Given the description of an element on the screen output the (x, y) to click on. 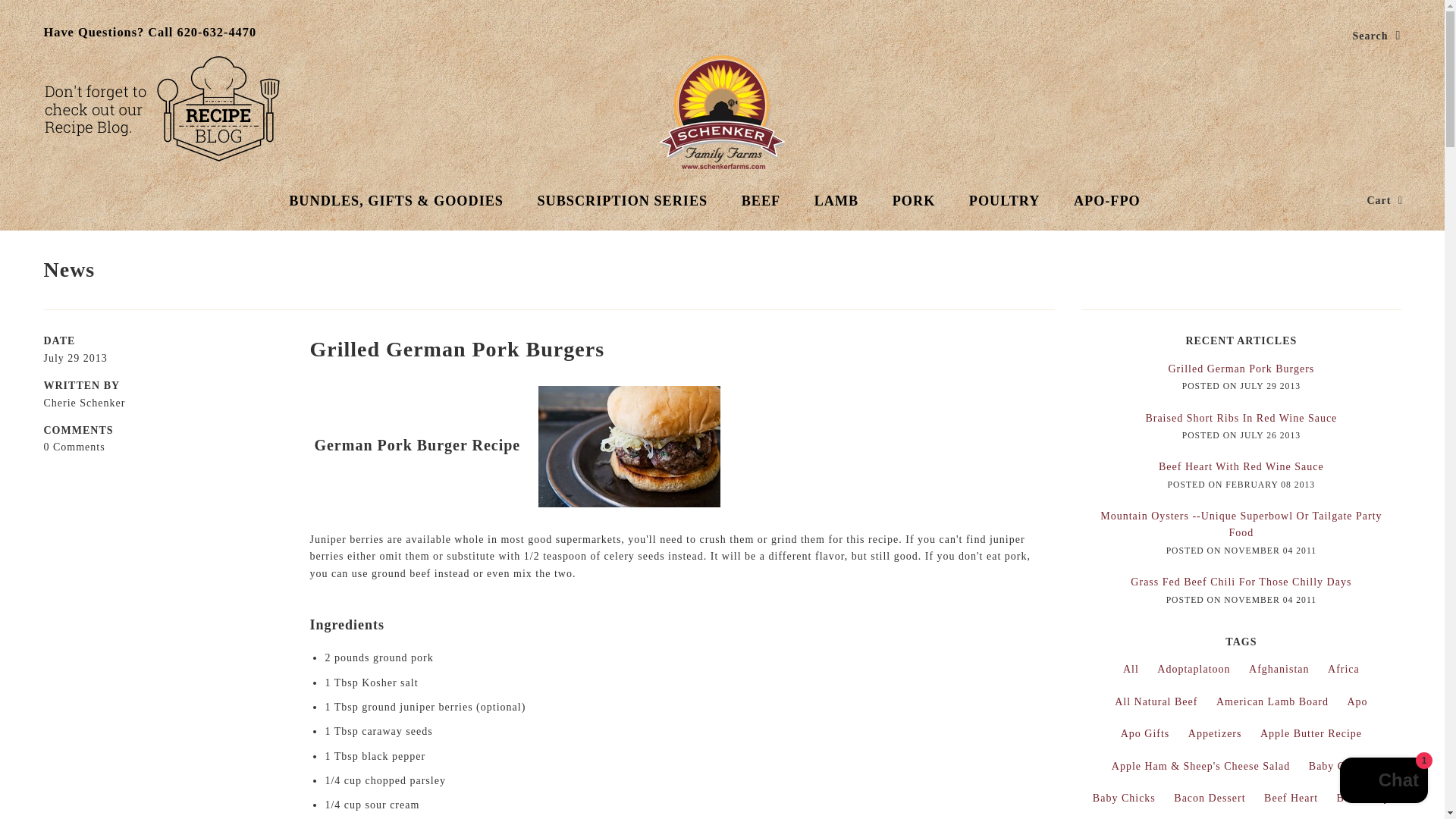
Narrow search to articles also having tag adoptaplatoon (1193, 668)
Narrow search to articles also having tag appetizers (1214, 733)
Narrow search to articles also having tag apo gifts (1145, 733)
Narrow search to articles also having tag Beef Heart (1290, 797)
Narrow search to articles also having tag all natural beef (1155, 701)
Grilled German Pork Burgers (1240, 368)
LAMB (837, 200)
Narrow search to articles also having tag afghanistan (1278, 668)
BEEF (761, 200)
Narrow search to articles also having tag africa (1343, 668)
Narrow search to articles also having tag baby chicks (1124, 797)
Don't forget to checkout our Recipe Blog (161, 108)
Beef Heart With Red Wine Sauce (1240, 466)
PORK (913, 200)
Cart (1385, 200)
